Given the description of an element on the screen output the (x, y) to click on. 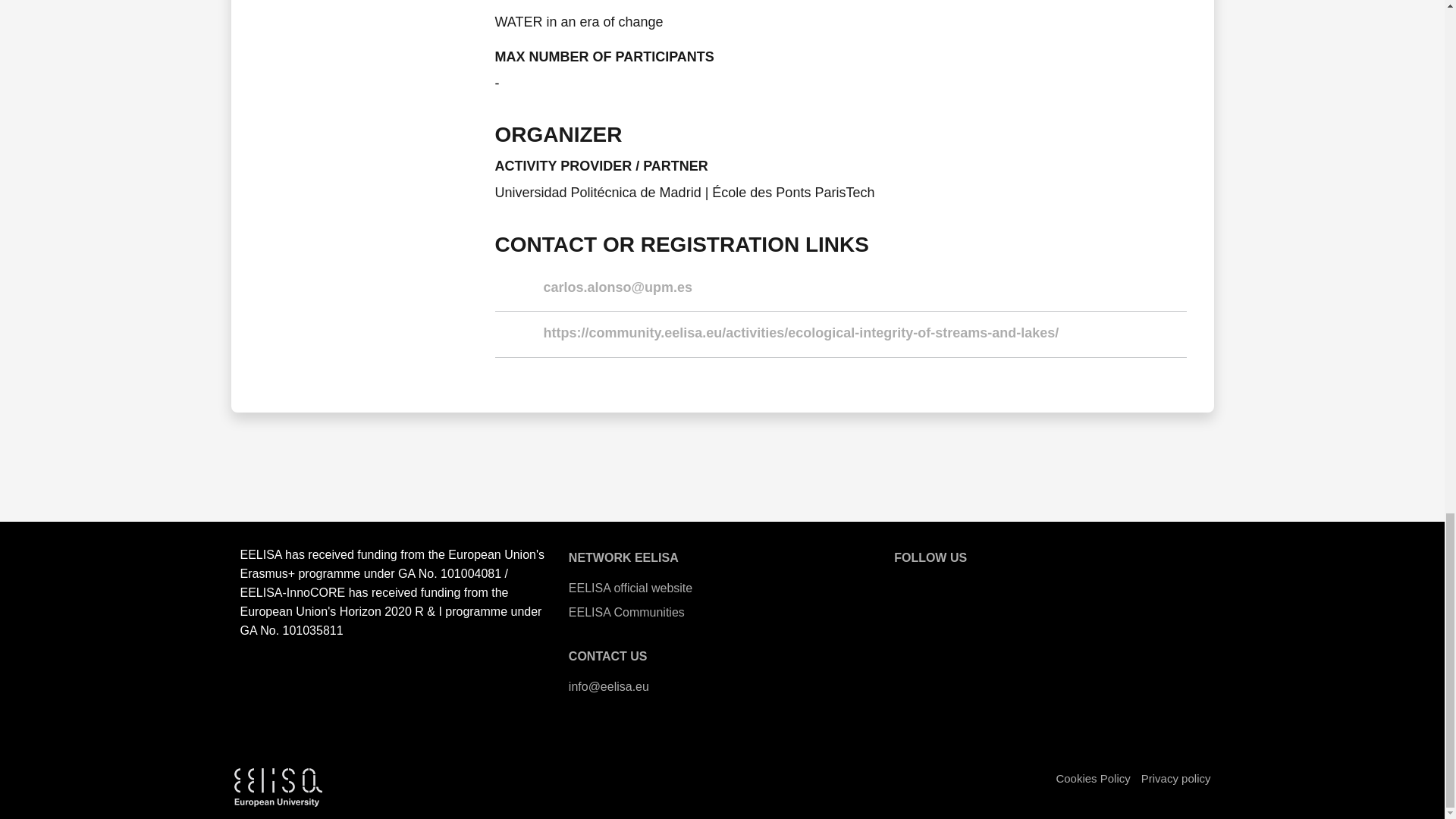
Instagram (1031, 584)
Twitter (949, 584)
EELISA Website (908, 584)
Cookie-Policy (1092, 778)
Linkedin (1071, 584)
Facebook (990, 584)
Linkedin (1071, 584)
NETWORK EELISA (623, 557)
CONTACT US (608, 656)
EELISA Communities (722, 612)
EELISA Website (908, 584)
Instagram (1031, 584)
link to url: EELISA Homepage  (722, 588)
Link to EELISA email (722, 686)
EELISA official website (722, 588)
